Given the description of an element on the screen output the (x, y) to click on. 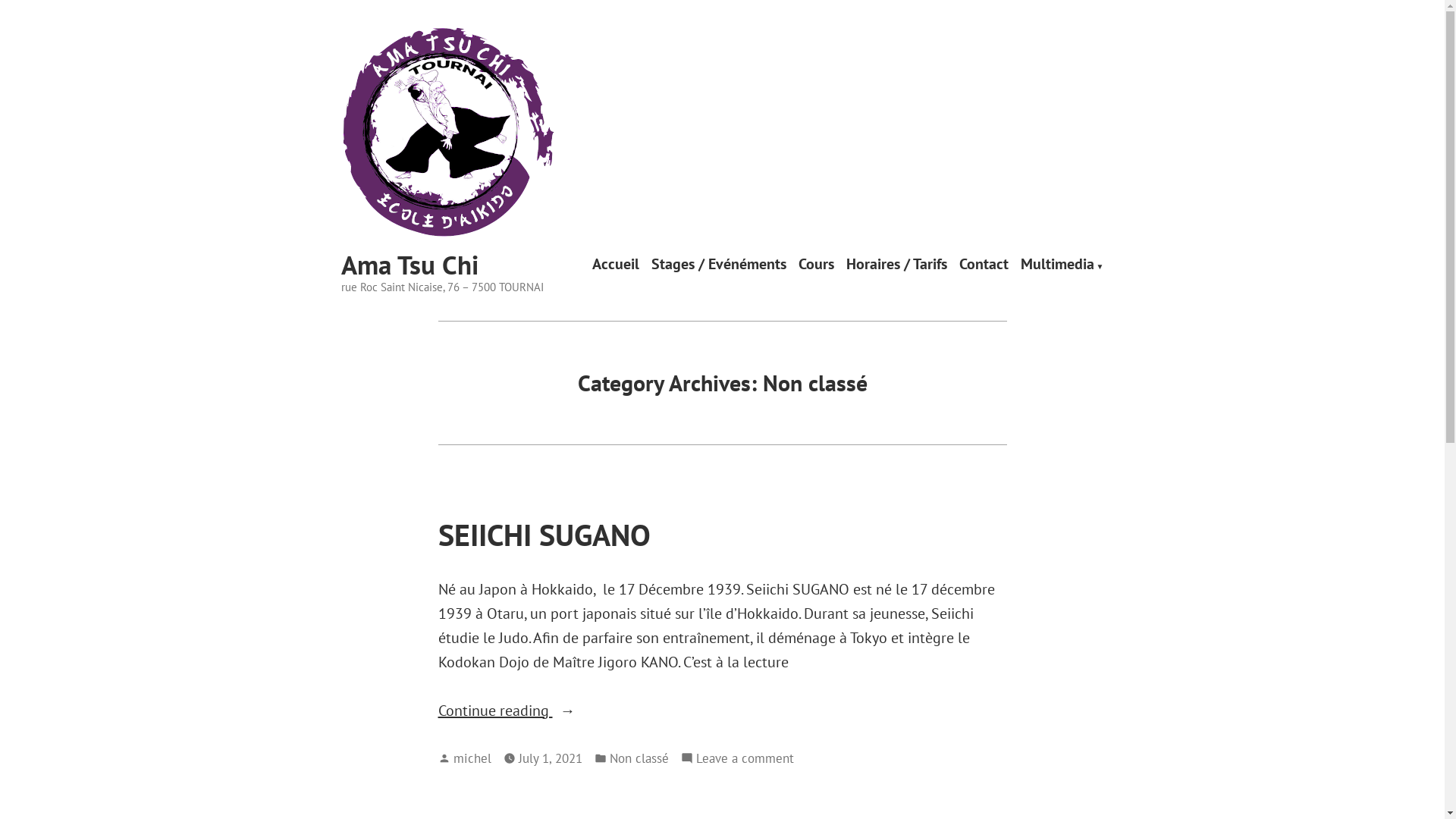
Multimedia Element type: text (1062, 265)
Horaires / Tarifs Element type: text (896, 265)
July 1, 2021 Element type: text (550, 757)
Contact Element type: text (983, 265)
Ama Tsu Chi Element type: text (409, 264)
michel Element type: text (472, 757)
Leave a comment
on SEIICHI SUGANO Element type: text (744, 757)
SEIICHI SUGANO Element type: text (544, 534)
Accueil Element type: text (615, 265)
Cours Element type: text (816, 265)
